Given the description of an element on the screen output the (x, y) to click on. 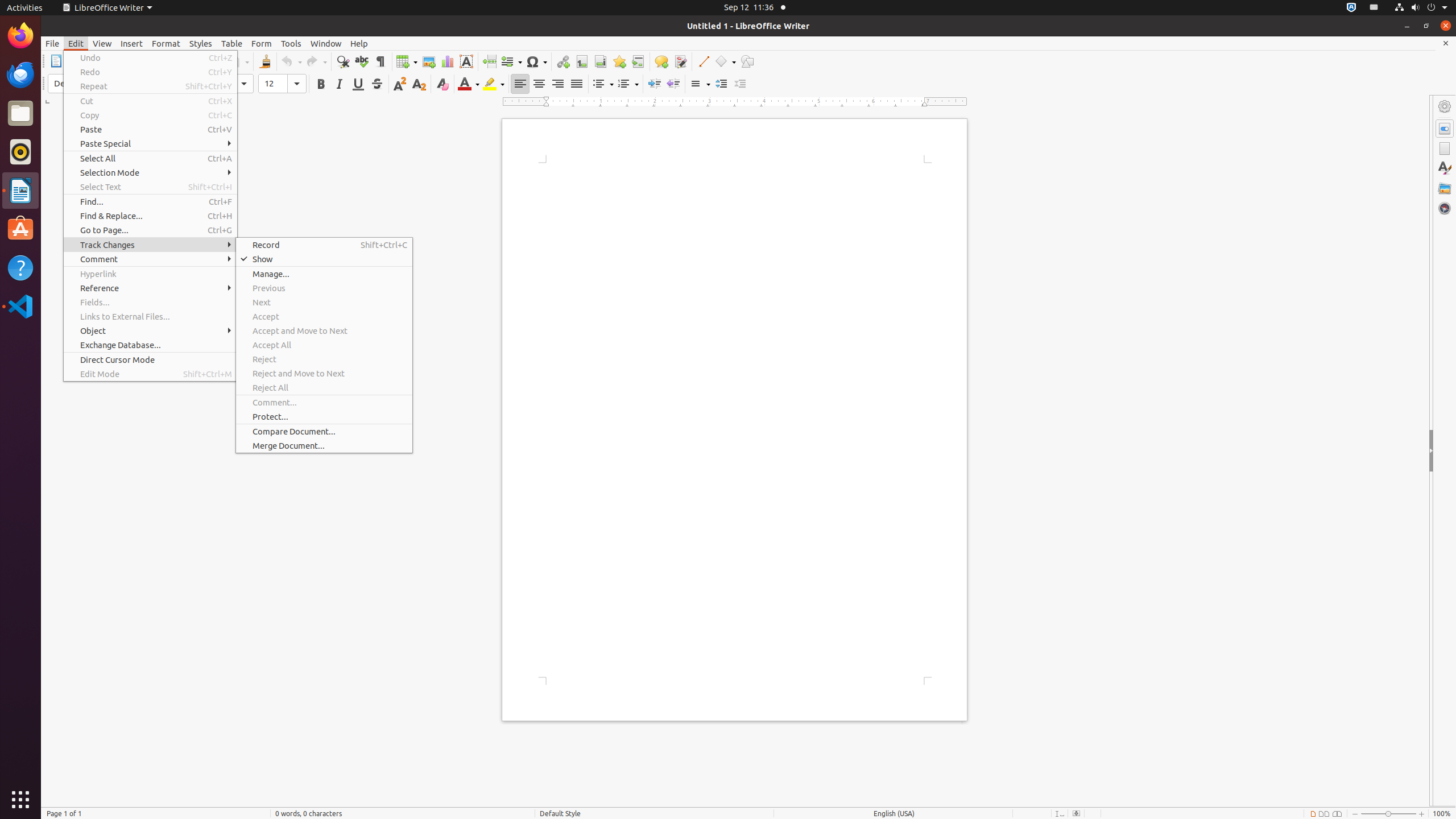
Find & Replace Element type: toggle-button (342, 61)
Right Element type: toggle-button (557, 83)
Object Element type: menu (150, 330)
Subscript Element type: toggle-button (418, 83)
Strikethrough Element type: toggle-button (376, 83)
